Given the description of an element on the screen output the (x, y) to click on. 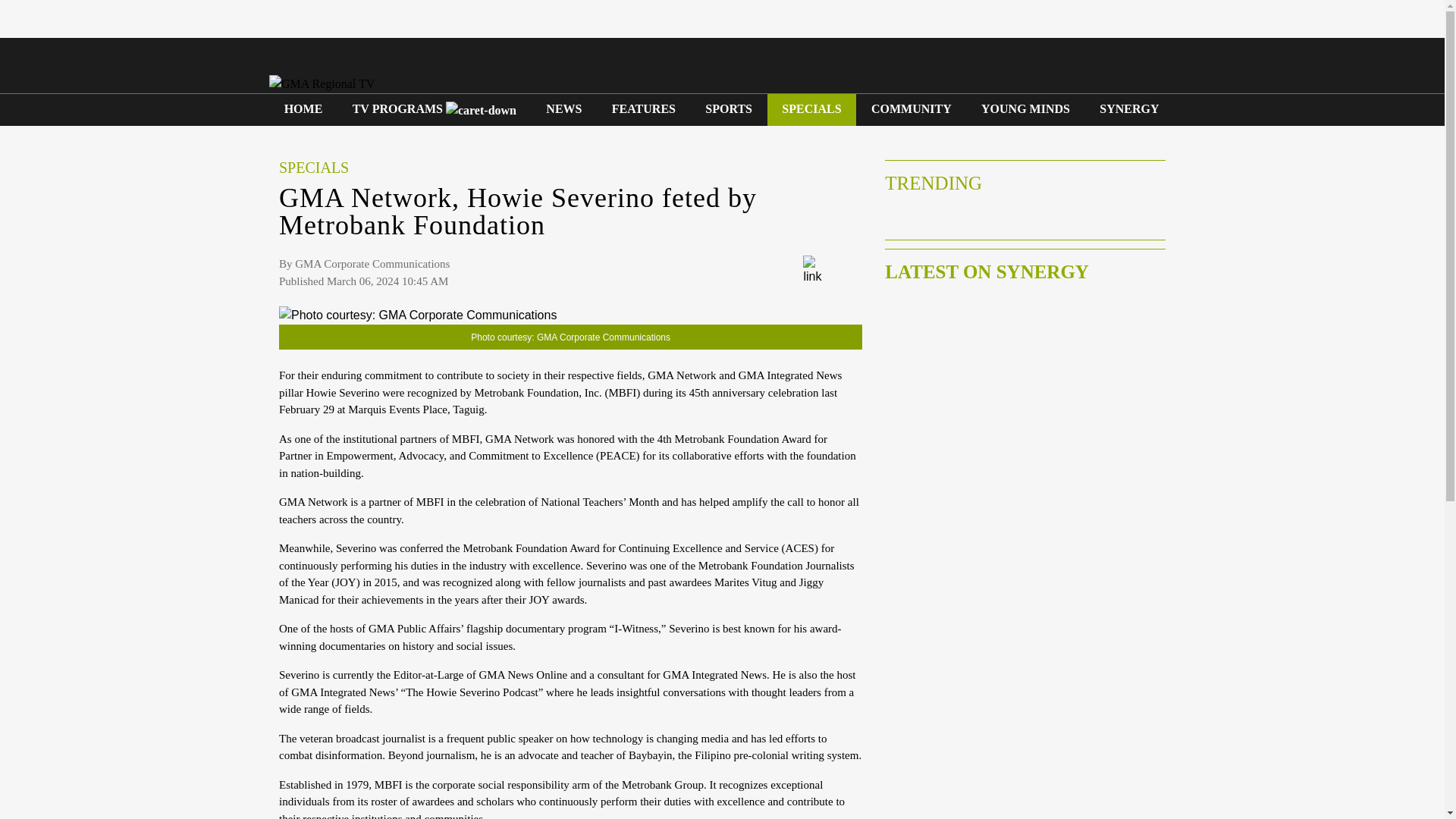
FEATURES (643, 109)
SYNERGY (1129, 109)
SPECIALS (812, 109)
NEWS (563, 109)
SPORTS (728, 109)
HOME (303, 109)
YOUNG MINDS (1025, 109)
COMMUNITY (911, 109)
TV PROGRAMS (434, 109)
